Given the description of an element on the screen output the (x, y) to click on. 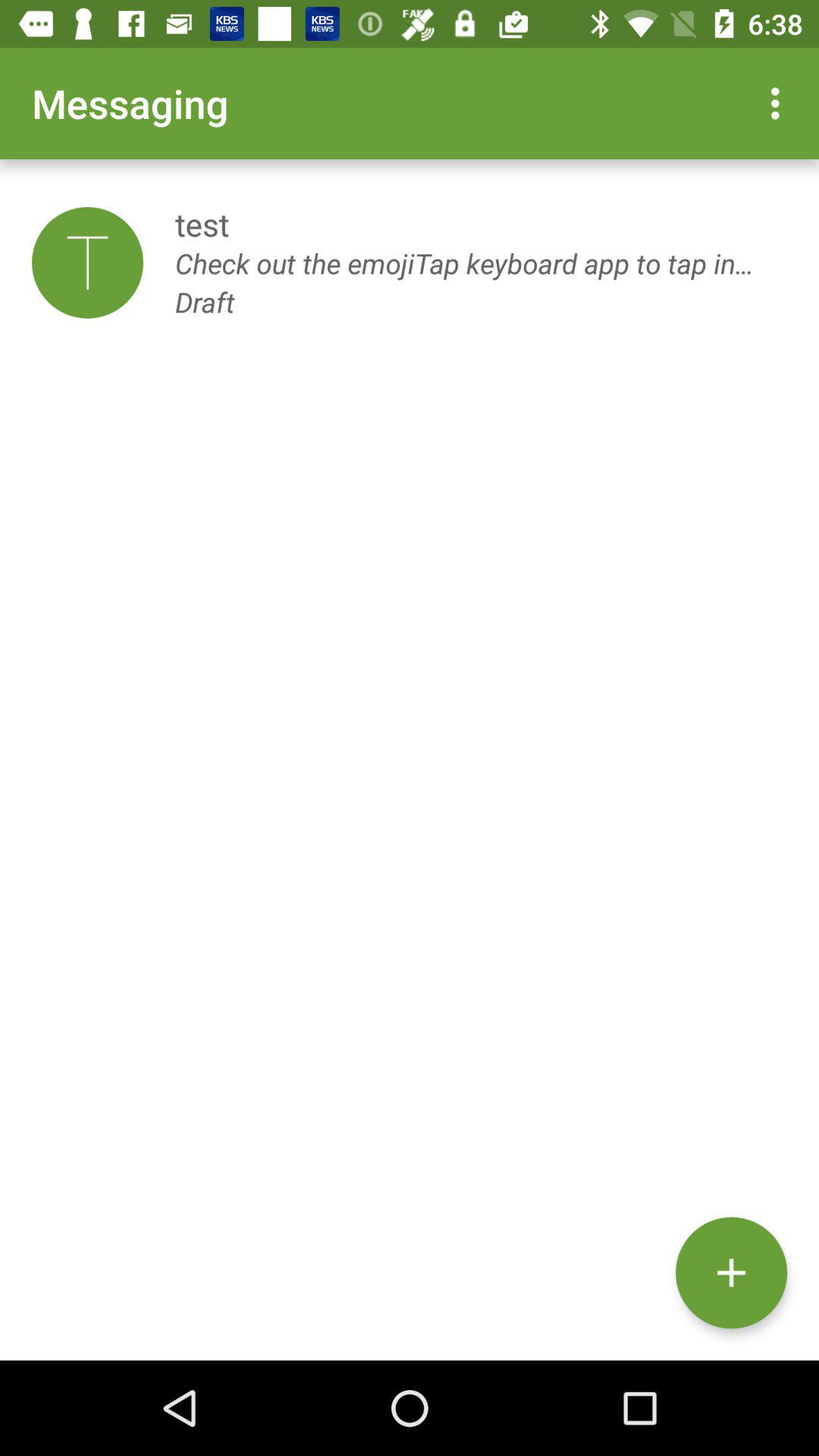
turn on the item below messaging app (87, 262)
